Given the description of an element on the screen output the (x, y) to click on. 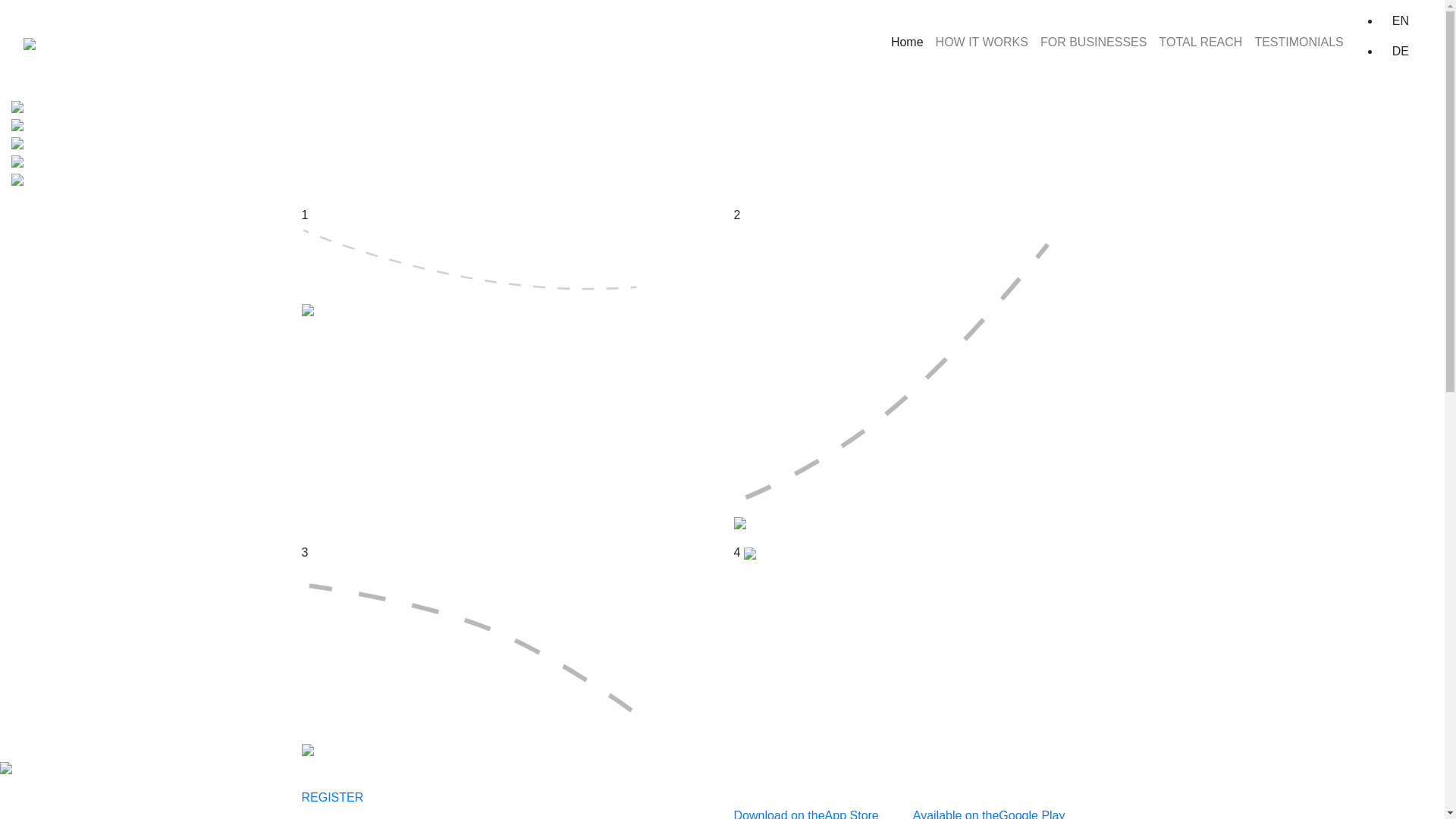
DE Element type: text (1400, 51)
TOTAL REACH Element type: text (1200, 42)
Home Element type: text (906, 42)
EN Element type: text (1400, 21)
FOR BUSINESSES Element type: text (1093, 42)
TESTIMONIALS Element type: text (1298, 42)
HOW IT WORKS Element type: text (981, 42)
REGISTER Element type: text (332, 796)
